Given the description of an element on the screen output the (x, y) to click on. 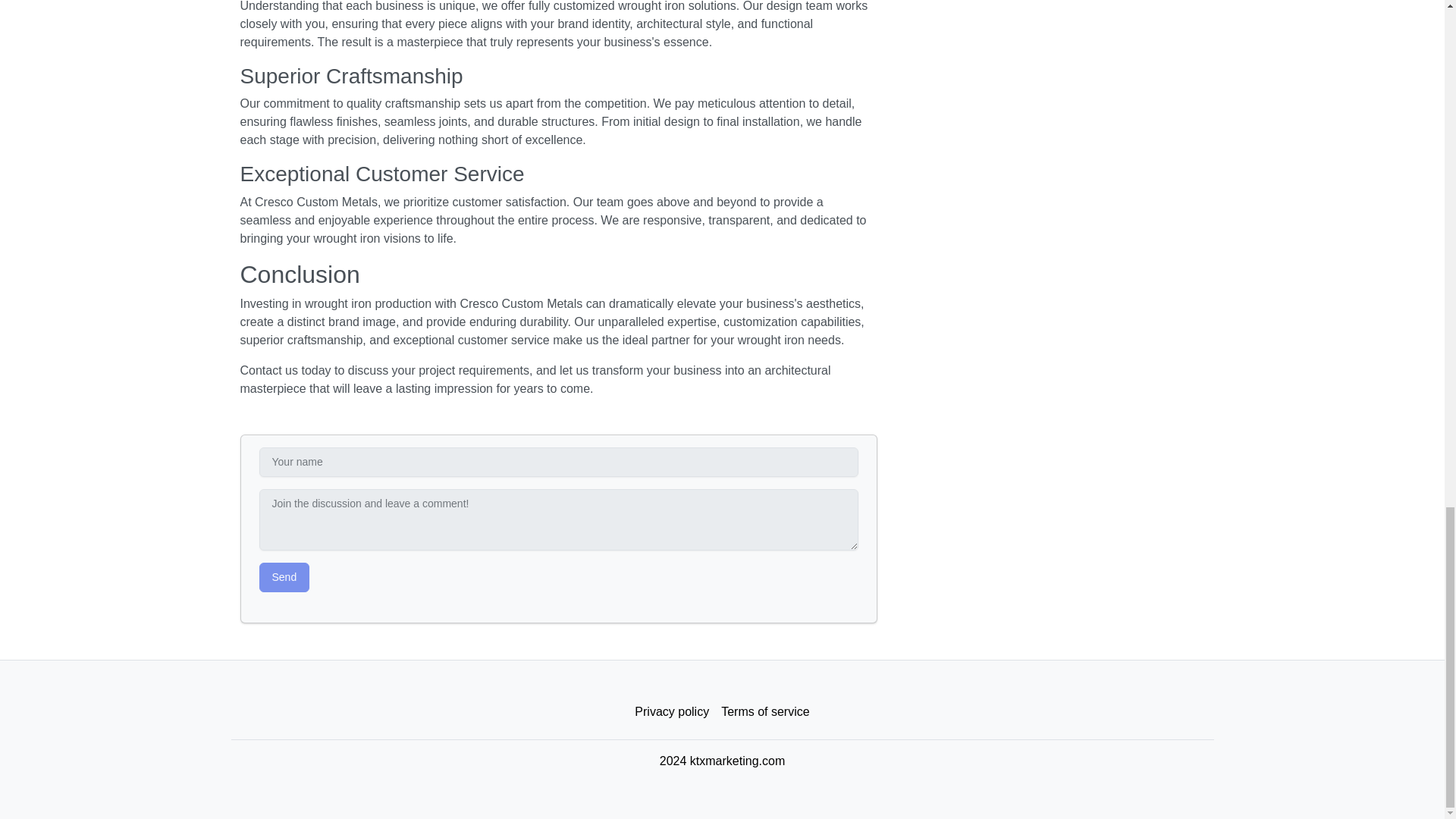
Send (284, 577)
Send (284, 577)
